Given the description of an element on the screen output the (x, y) to click on. 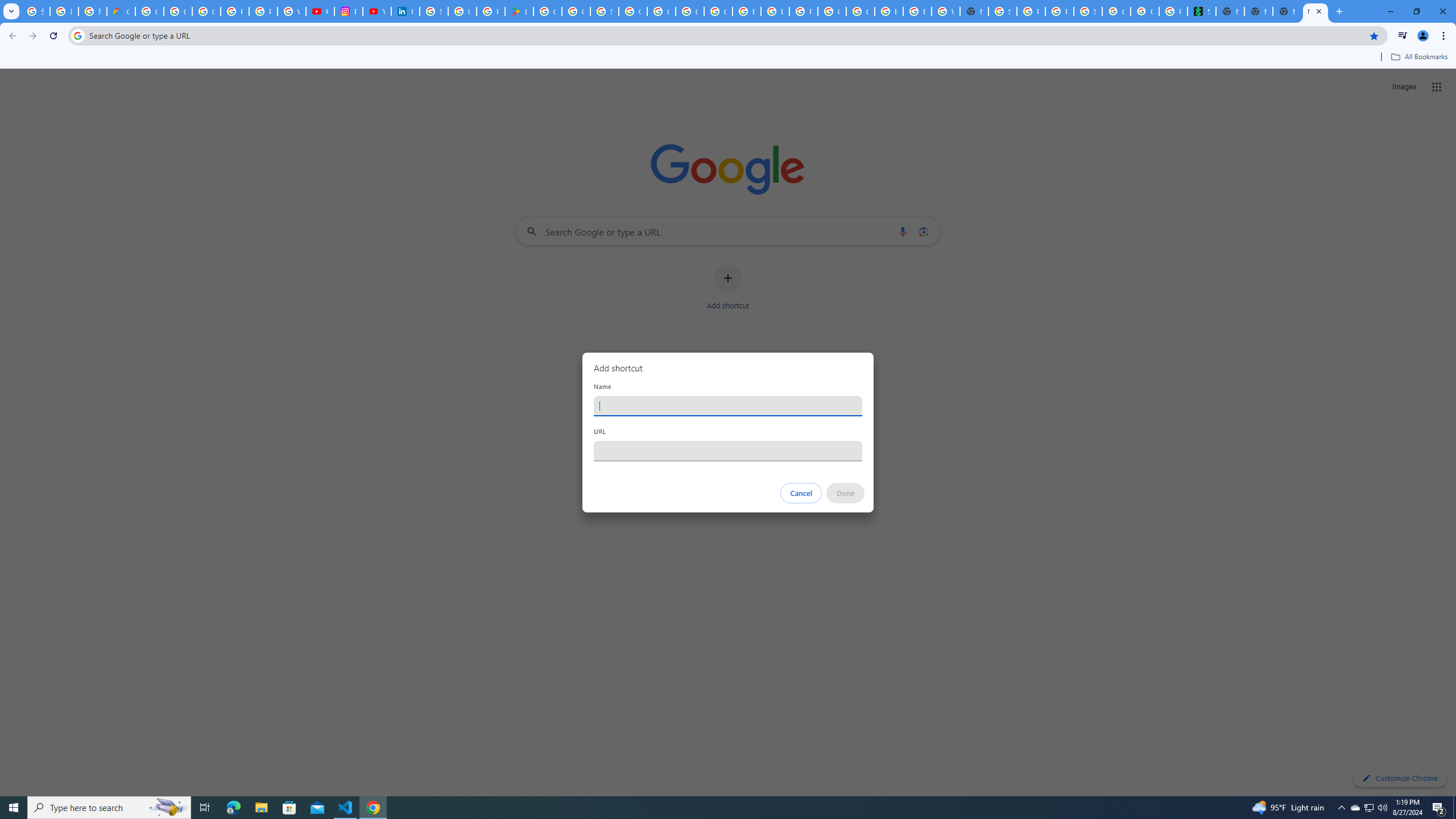
Sign in - Google Accounts (1002, 11)
New Tab (1315, 11)
Privacy Help Center - Policies Help (263, 11)
